Given the description of an element on the screen output the (x, y) to click on. 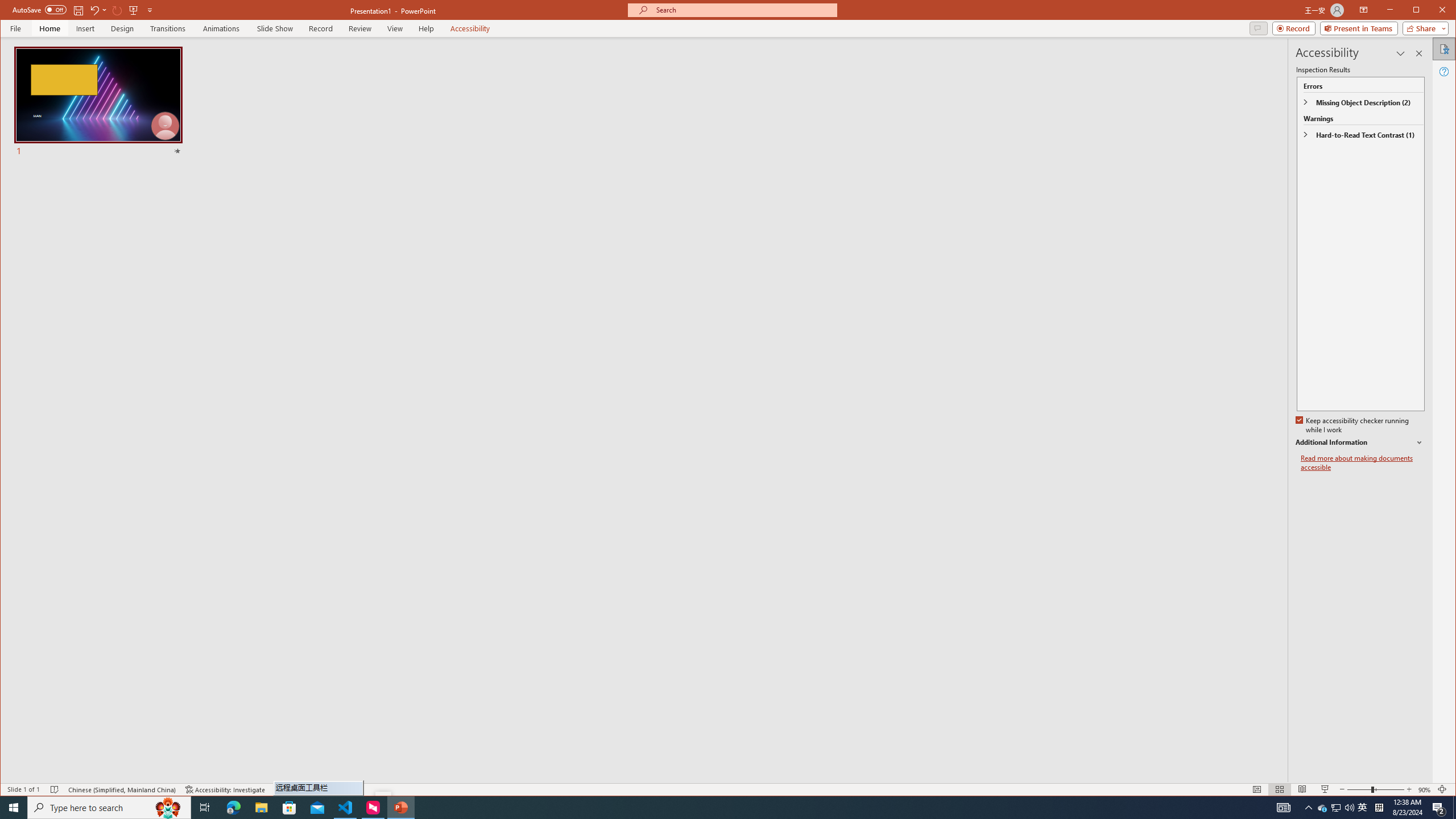
Keep accessibility checker running while I work (1352, 425)
Action Center, 2 new notifications (1439, 807)
